Given the description of an element on the screen output the (x, y) to click on. 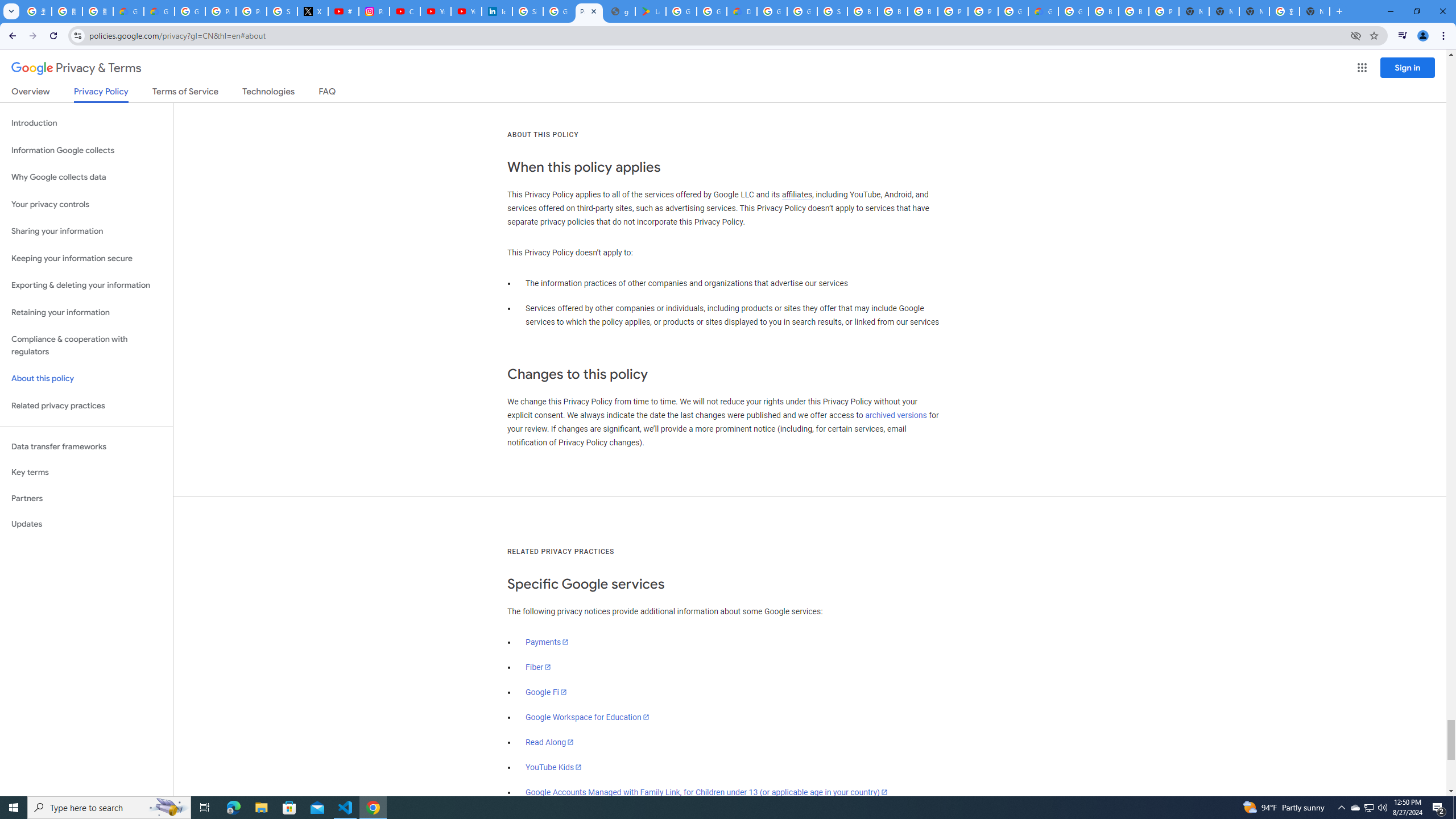
Google Cloud Platform (771, 11)
Keeping your information secure (86, 258)
New Tab (1193, 11)
google_privacy_policy_en.pdf (619, 11)
Retaining your information (86, 312)
Browse Chrome as a guest - Computer - Google Chrome Help (862, 11)
